Given the description of an element on the screen output the (x, y) to click on. 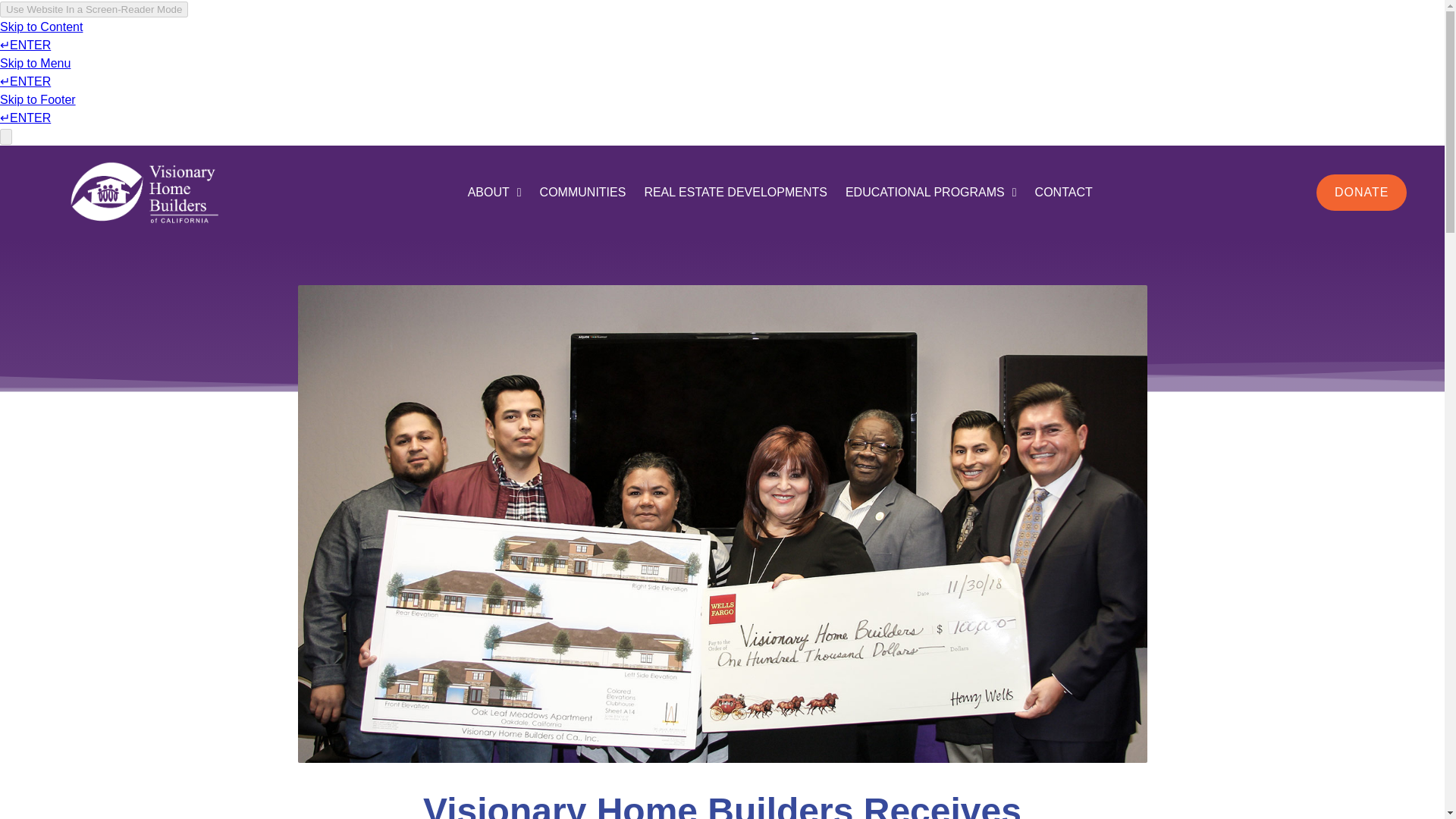
CONTACT (1064, 192)
REAL ESTATE DEVELOPMENTS (734, 192)
DONATE (1361, 192)
ABOUT (494, 192)
COMMUNITIES (582, 192)
EDUCATIONAL PROGRAMS (930, 192)
